Given the description of an element on the screen output the (x, y) to click on. 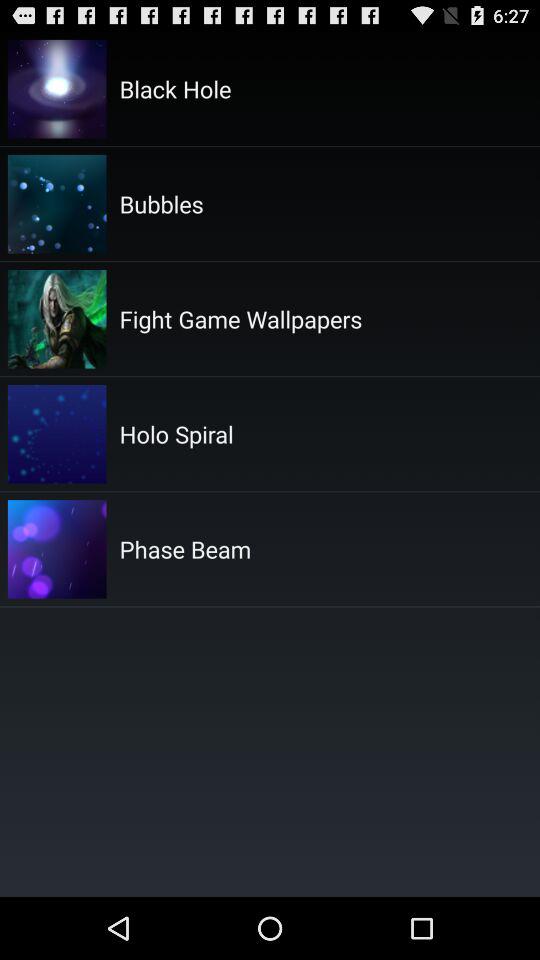
open black hole app (175, 88)
